Given the description of an element on the screen output the (x, y) to click on. 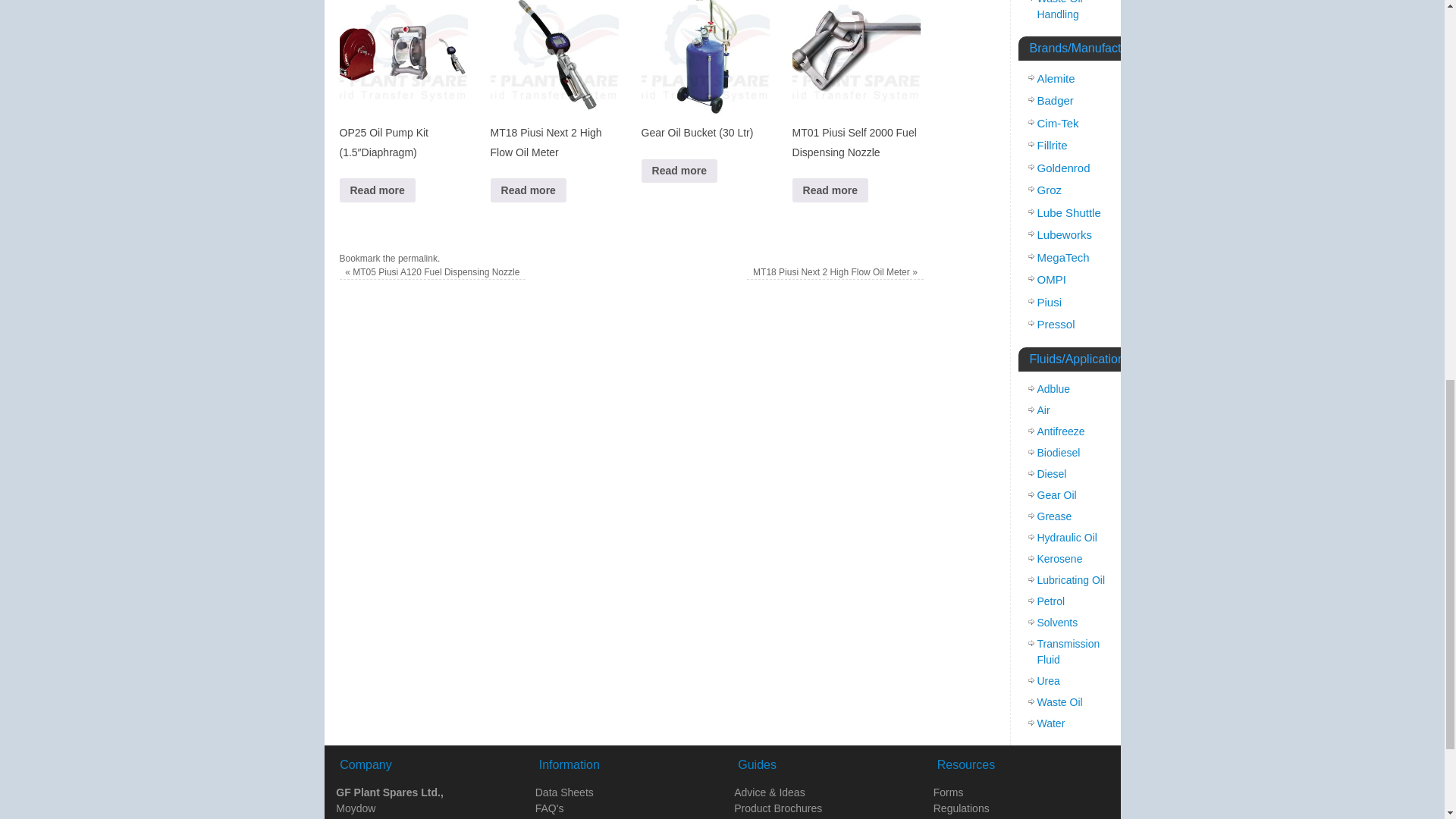
Read more (376, 189)
10 topics (1064, 234)
permalink (417, 258)
1 topic (1063, 167)
Read more (679, 170)
13 topics (1057, 123)
Read more (829, 189)
3 topics (1055, 100)
29 topics (1055, 78)
2 topics (1049, 189)
